Given the description of an element on the screen output the (x, y) to click on. 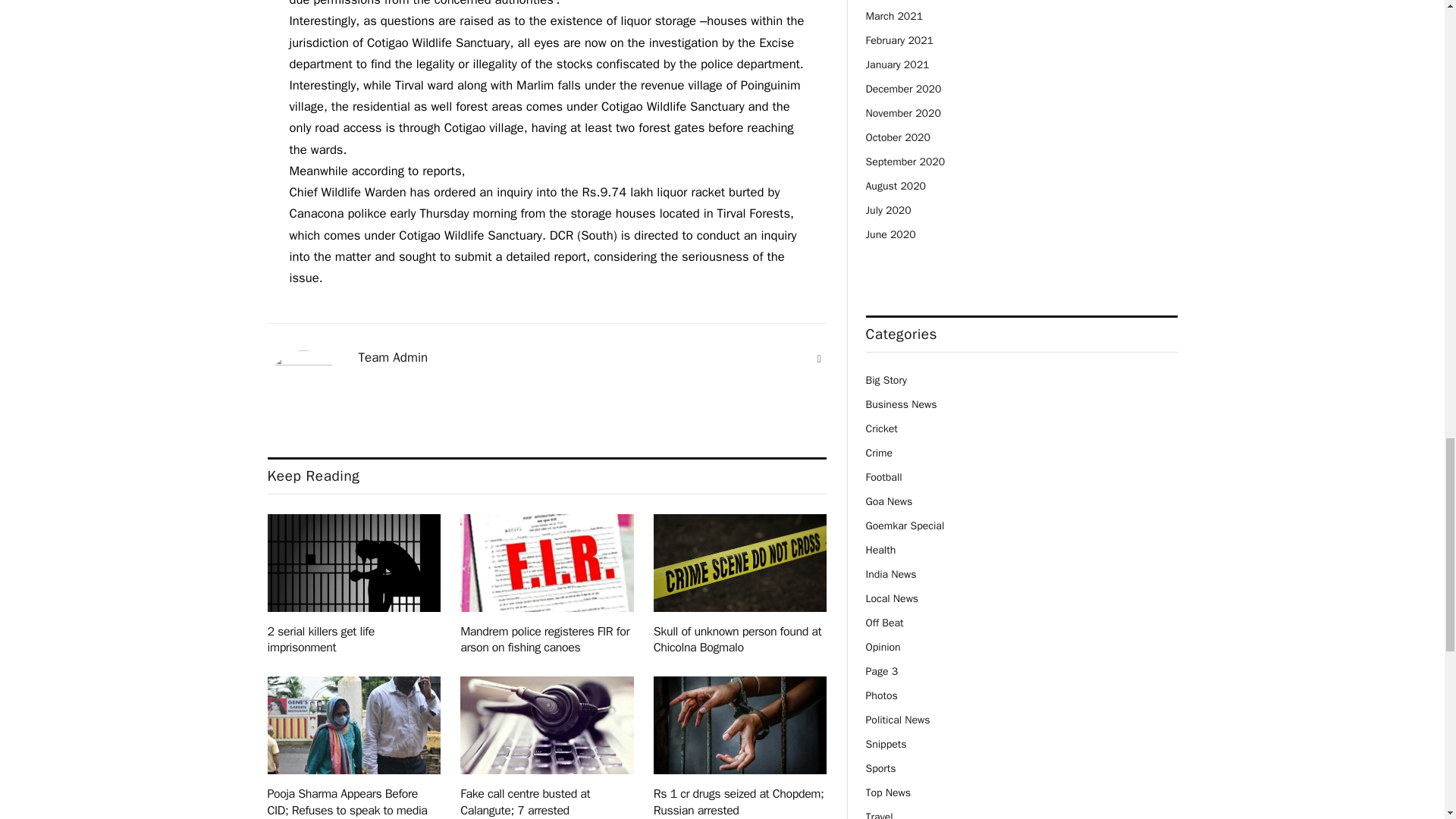
Posts by Team Admin (393, 357)
2 serial killers get life imprisonment (353, 562)
Website (818, 359)
